Given the description of an element on the screen output the (x, y) to click on. 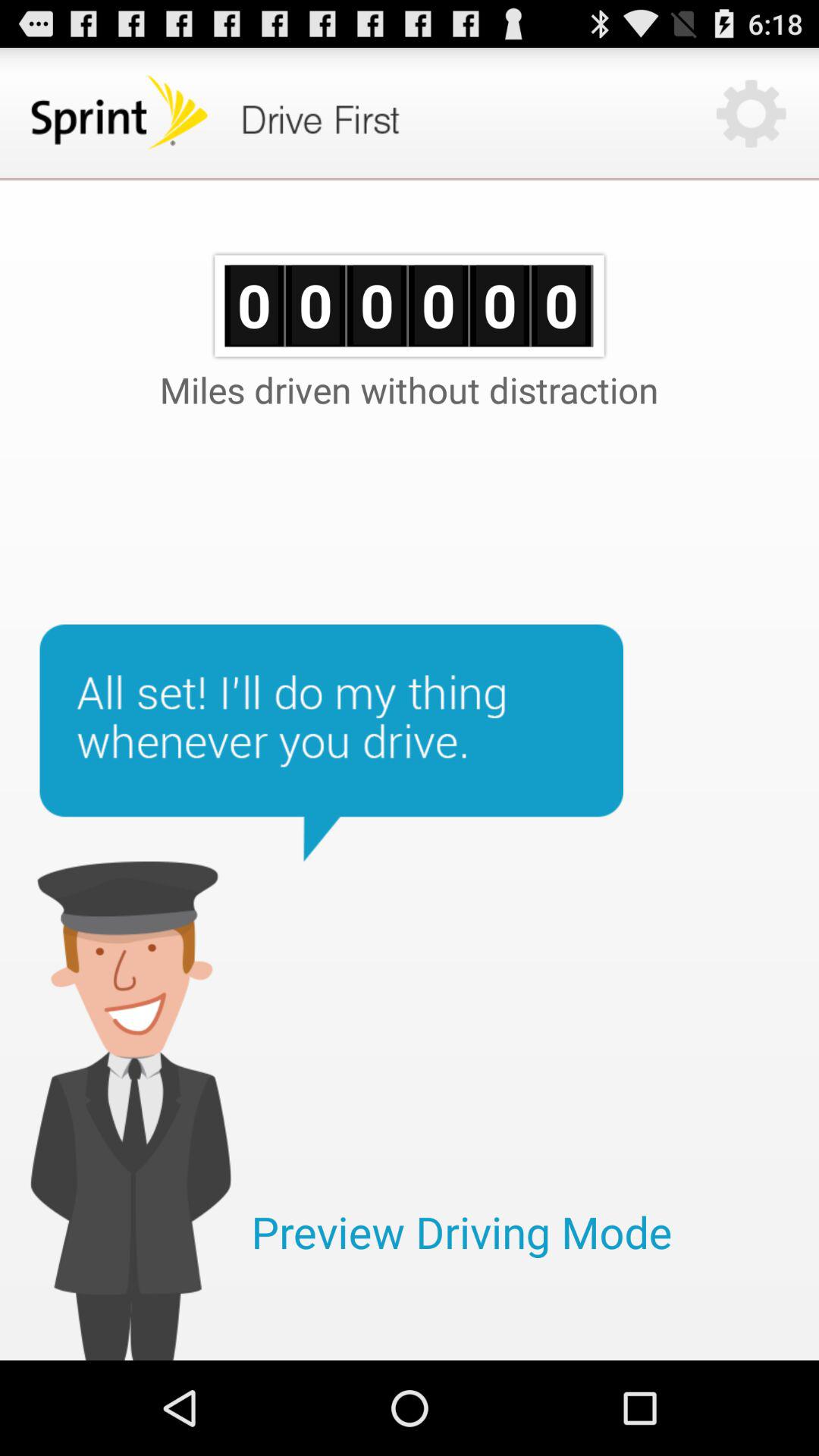
settings (751, 113)
